Given the description of an element on the screen output the (x, y) to click on. 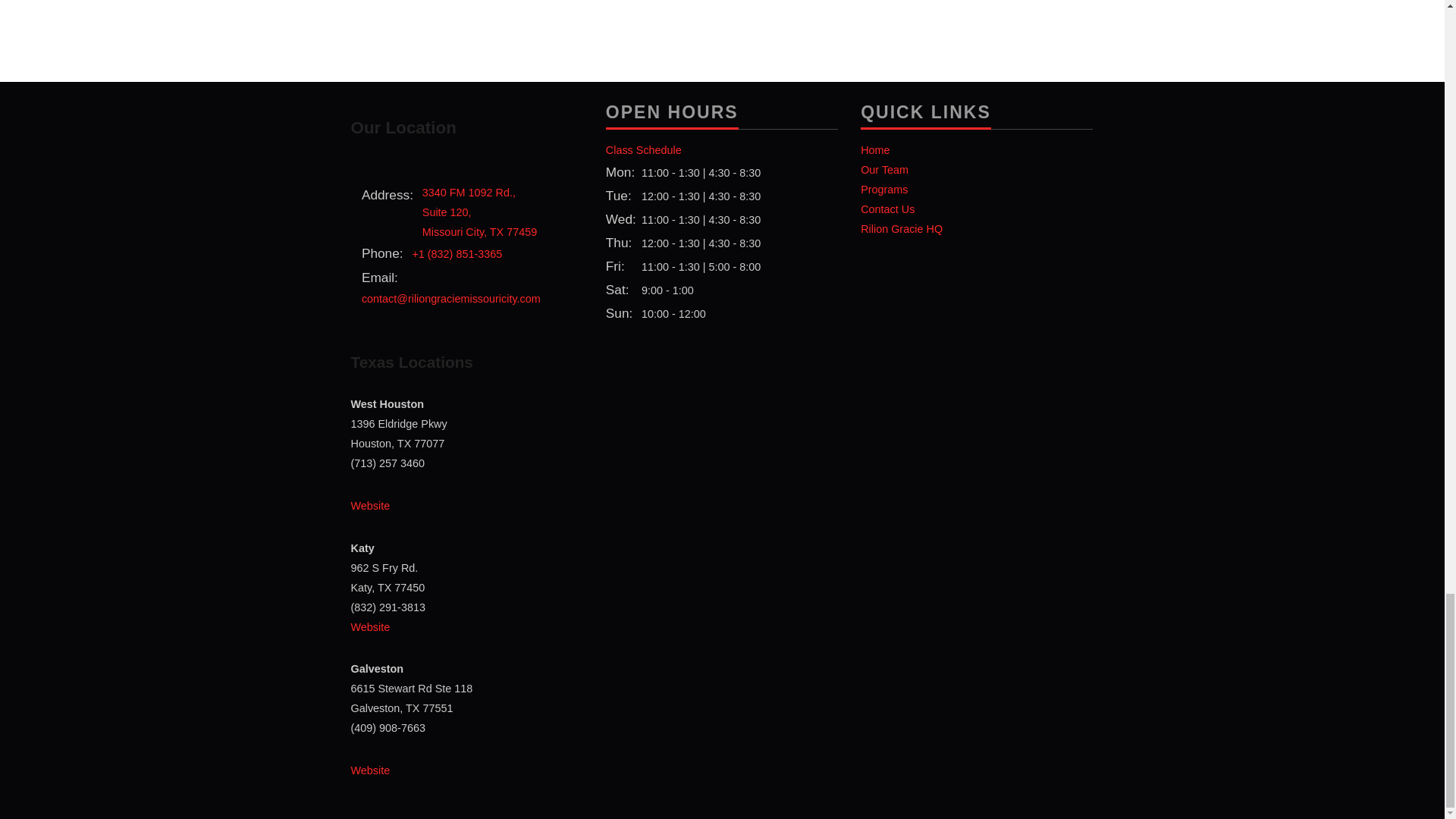
Our Team (479, 212)
Class Schedule (884, 169)
Programs (643, 150)
Contact Us (883, 189)
Website (887, 209)
Home (370, 626)
Website (874, 150)
Website (370, 505)
